Given the description of an element on the screen output the (x, y) to click on. 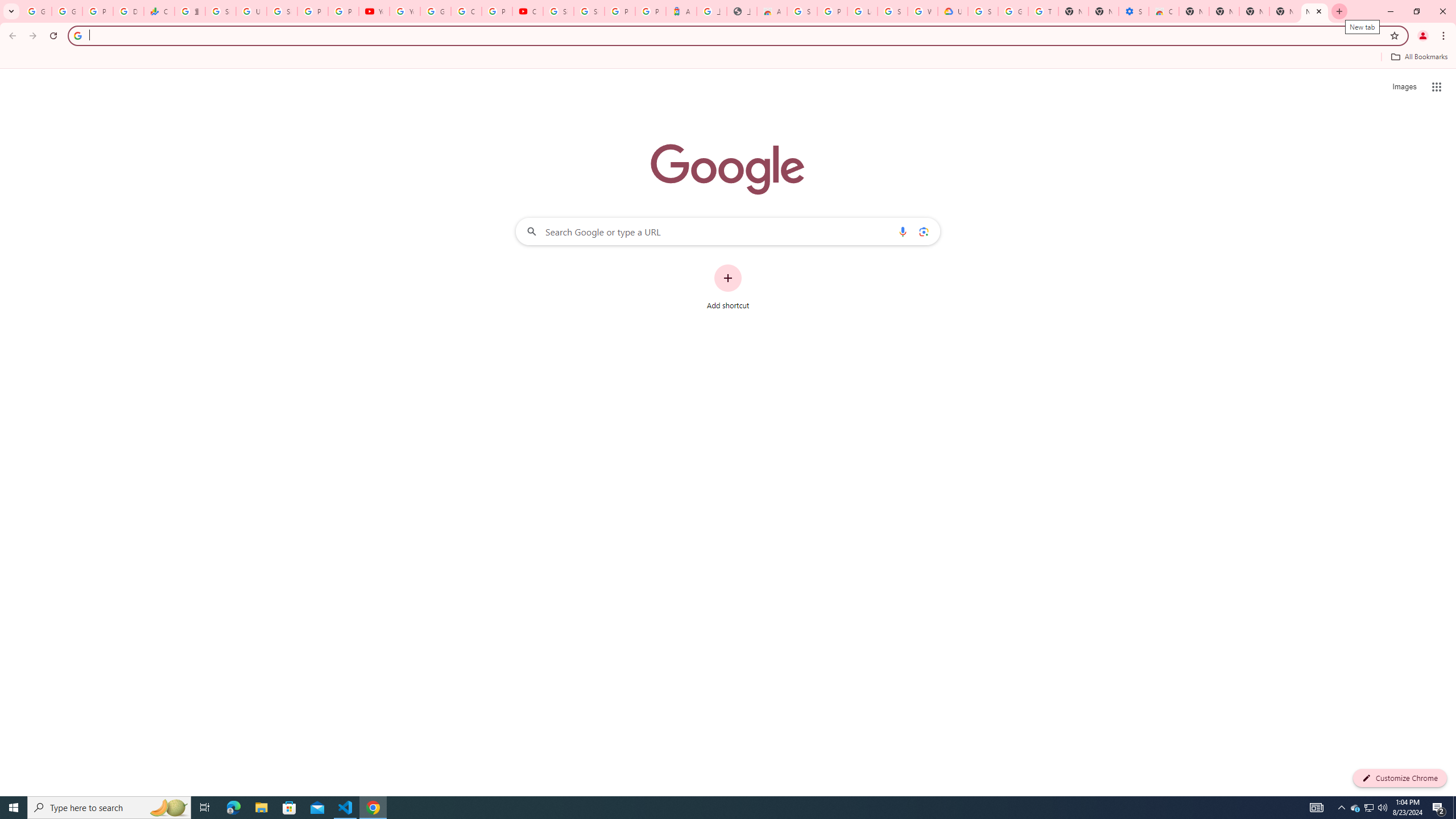
Sign in - Google Accounts (982, 11)
Create your Google Account (465, 11)
Awesome Screen Recorder & Screenshot - Chrome Web Store (771, 11)
Sign in - Google Accounts (220, 11)
Currencies - Google Finance (158, 11)
New Tab (1254, 11)
